Given the description of an element on the screen output the (x, y) to click on. 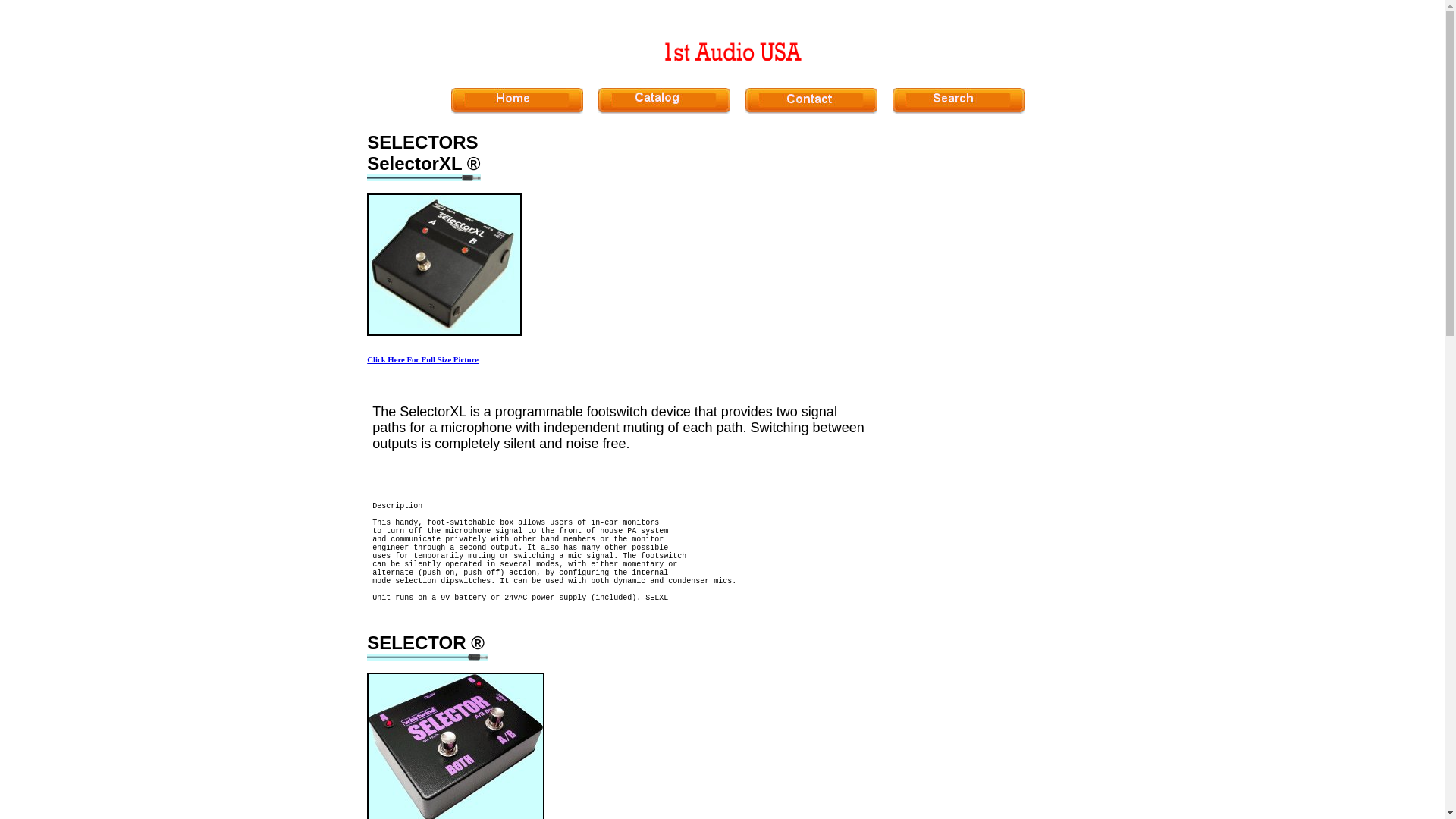
Click Here For Full Size Picture Element type: text (422, 359)
